Given the description of an element on the screen output the (x, y) to click on. 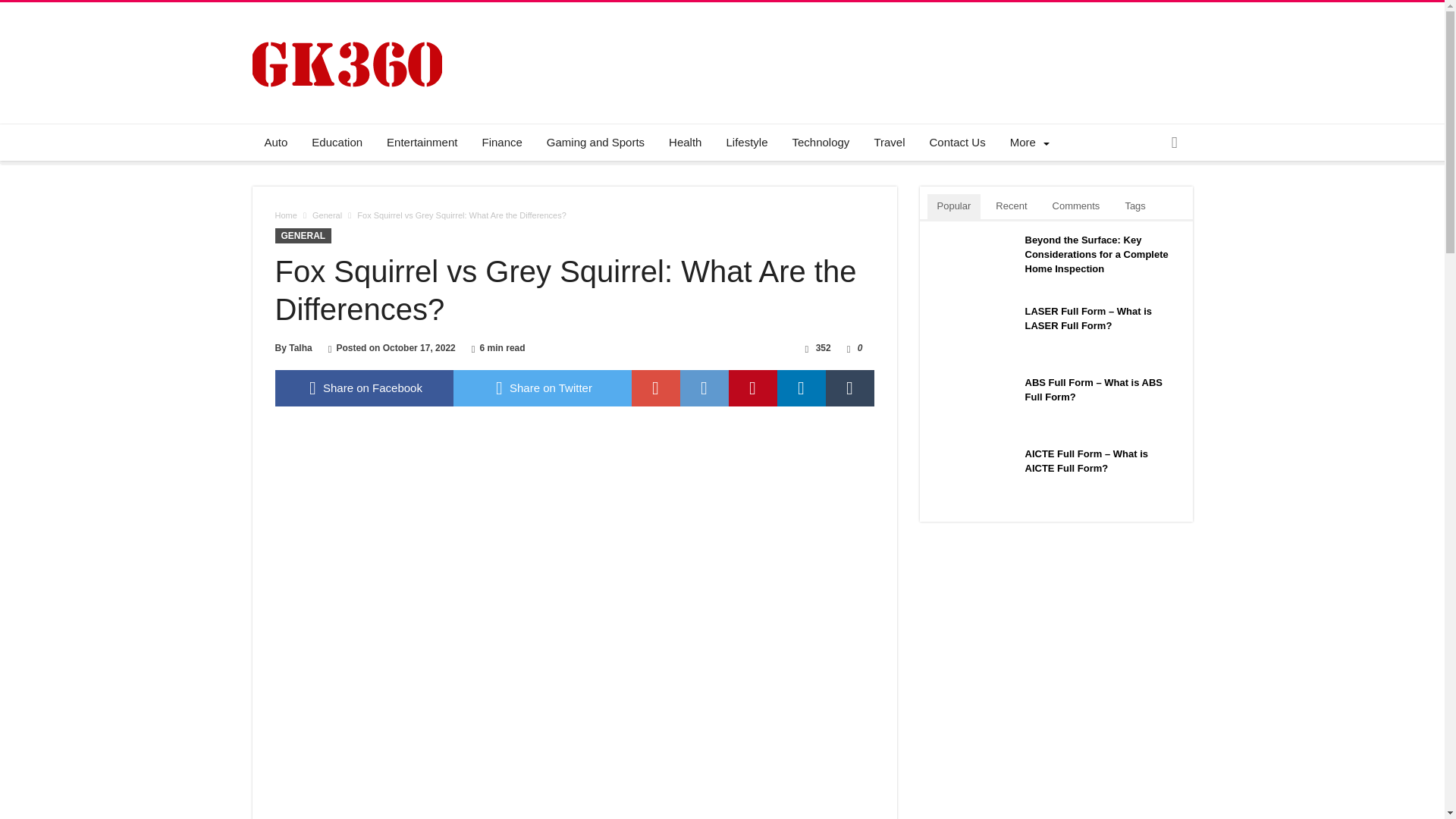
Technology (819, 142)
google (654, 388)
Home (286, 215)
Auto (275, 142)
I like this article (849, 347)
General (327, 215)
linkedin (800, 388)
Share on Reddit (703, 388)
Travel (889, 142)
Share on Twitter (541, 388)
GENERAL (303, 235)
More (1027, 142)
facebook (363, 388)
GK360 (346, 24)
Gaming and Sports (595, 142)
